Given the description of an element on the screen output the (x, y) to click on. 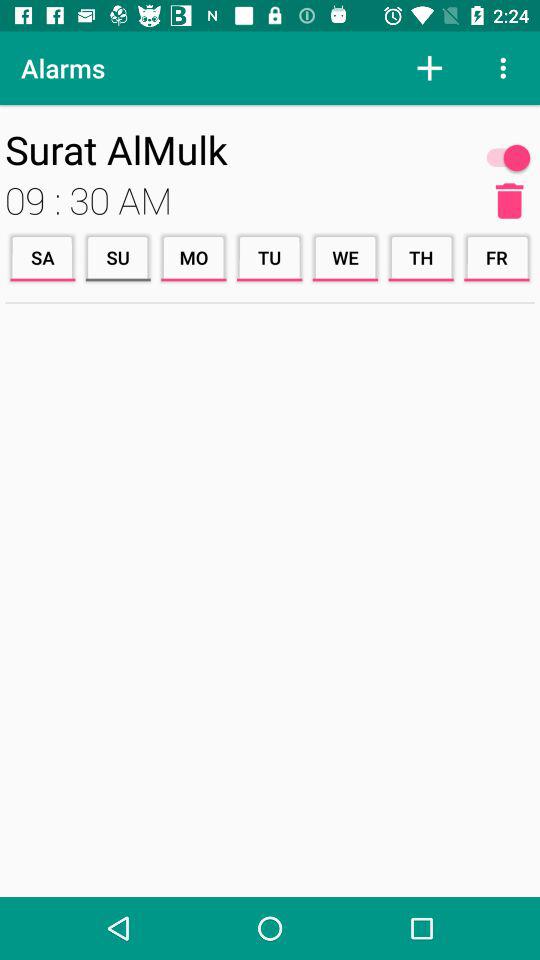
launch item next to the we icon (421, 257)
